Given the description of an element on the screen output the (x, y) to click on. 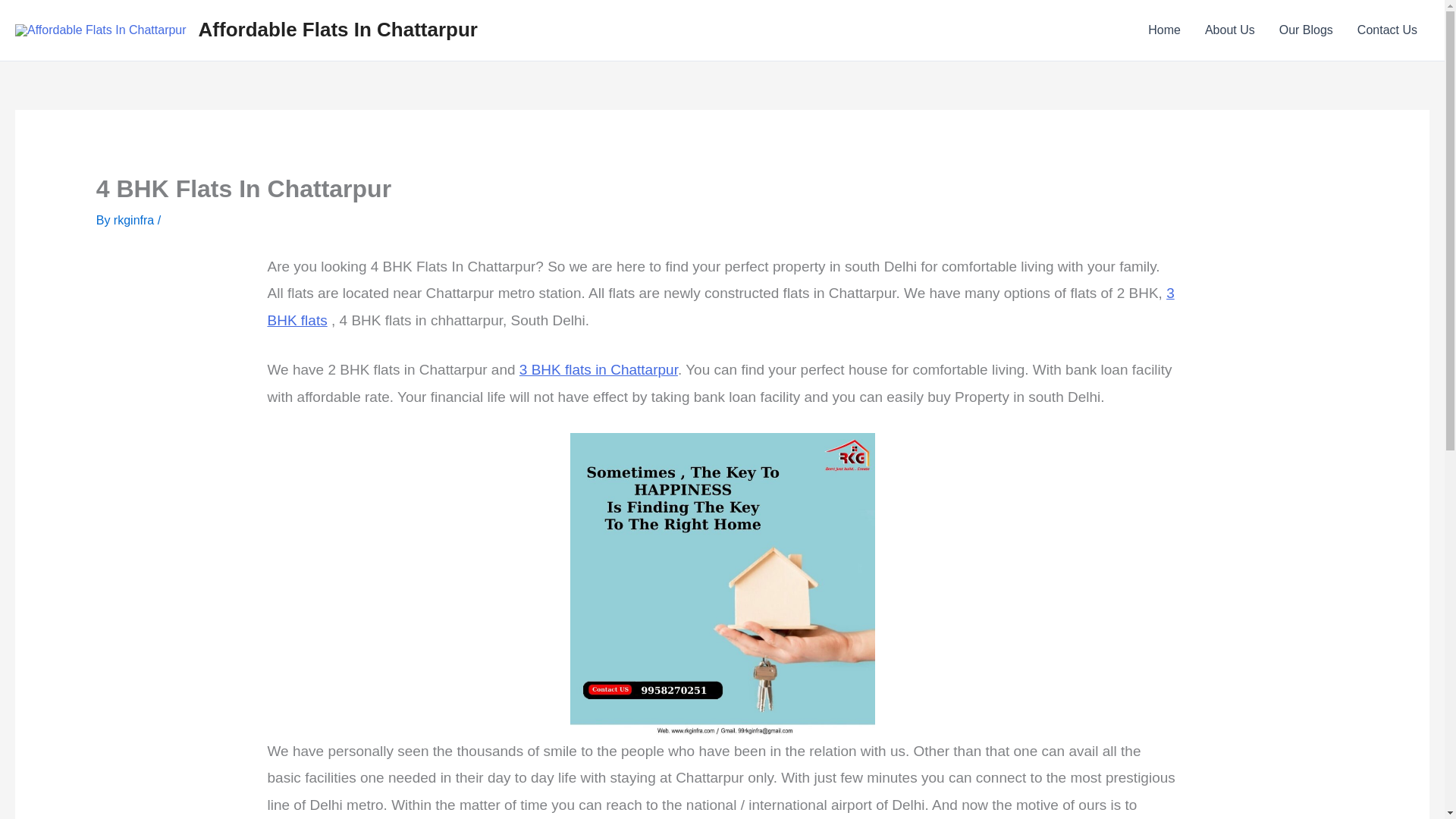
Affordable Flats In Chattarpur (337, 29)
View all posts by rkginfra (135, 219)
Contact Us (1387, 30)
About Us (1229, 30)
Our Blogs (1305, 30)
Home (1163, 30)
